Given the description of an element on the screen output the (x, y) to click on. 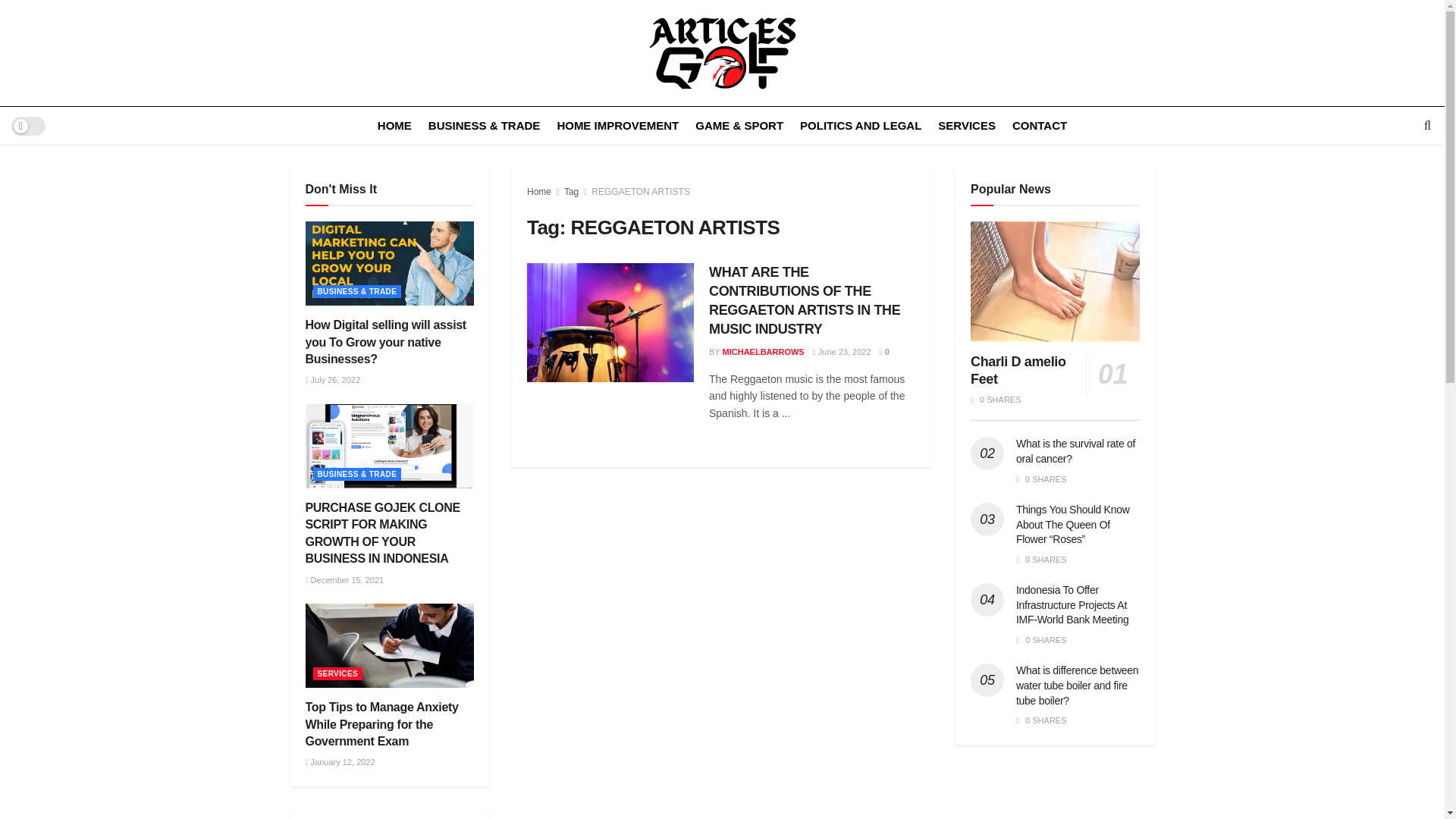
MICHAELBARROWS (763, 351)
REGGAETON ARTISTS (640, 191)
Tag (571, 191)
CONTACT (1039, 125)
0 (884, 351)
HOME (394, 125)
HOME IMPROVEMENT (617, 125)
June 23, 2022 (841, 351)
SERVICES (966, 125)
POLITICS AND LEGAL (860, 125)
December 15, 2021 (344, 579)
Home (539, 191)
